Given the description of an element on the screen output the (x, y) to click on. 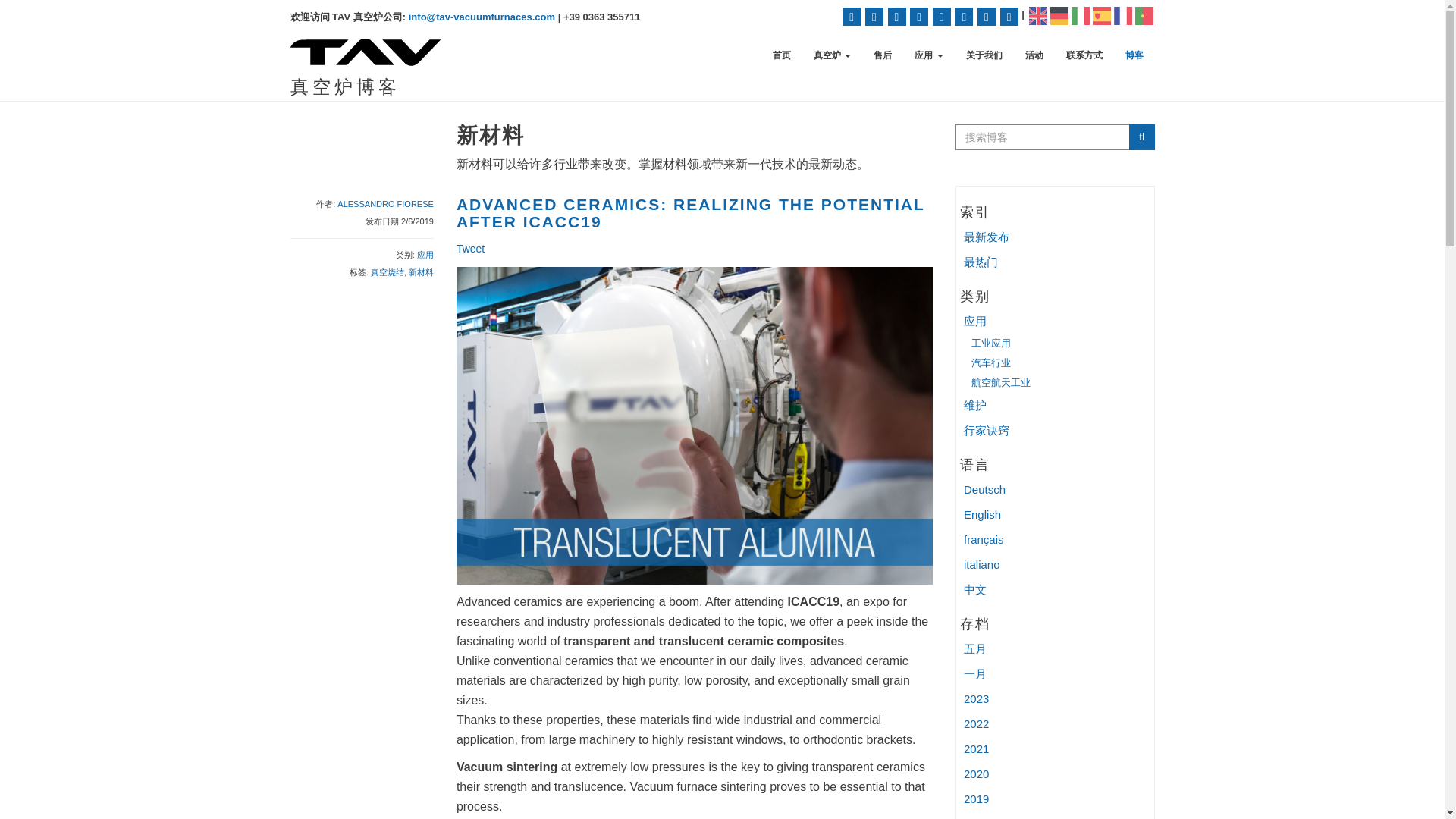
RSS feed (851, 16)
English (1036, 14)
ALESSANDRO FIORESE (385, 203)
Deutsch (1058, 14)
italiano (1079, 14)
